Given the description of an element on the screen output the (x, y) to click on. 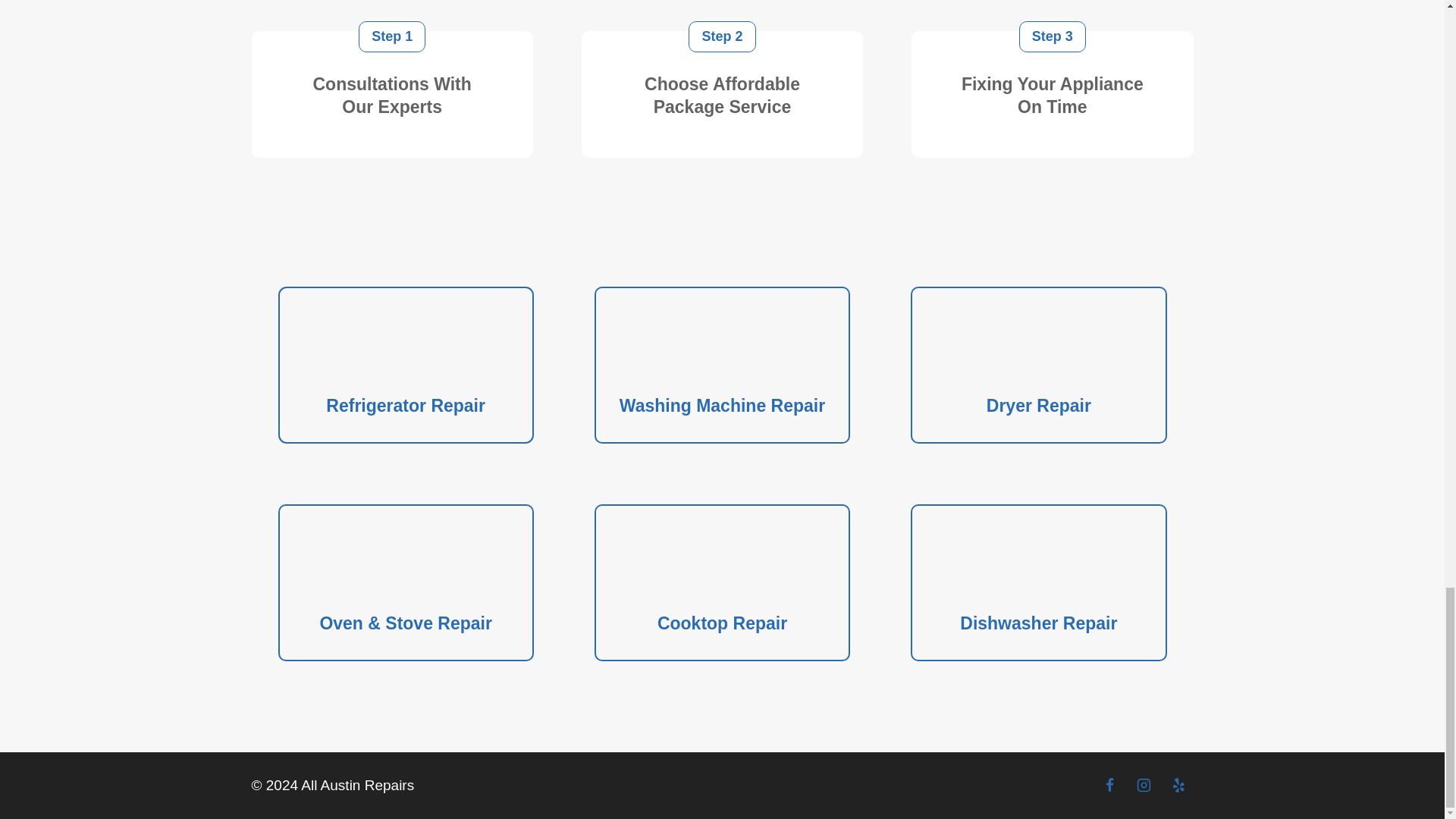
Whirlpool Refrigerator Repair in Cedar Park 3 (405, 342)
Whirlpool Refrigerator Repair in Cedar Park 5 (721, 342)
Whirlpool Refrigerator Repair in Cedar Park 9 (405, 560)
Whirlpool Refrigerator Repair in Cedar Park 7 (1038, 342)
Whirlpool Refrigerator Repair in Cedar Park 11 (721, 560)
Whirlpool Refrigerator Repair in Cedar Park 13 (1038, 560)
